Given the description of an element on the screen output the (x, y) to click on. 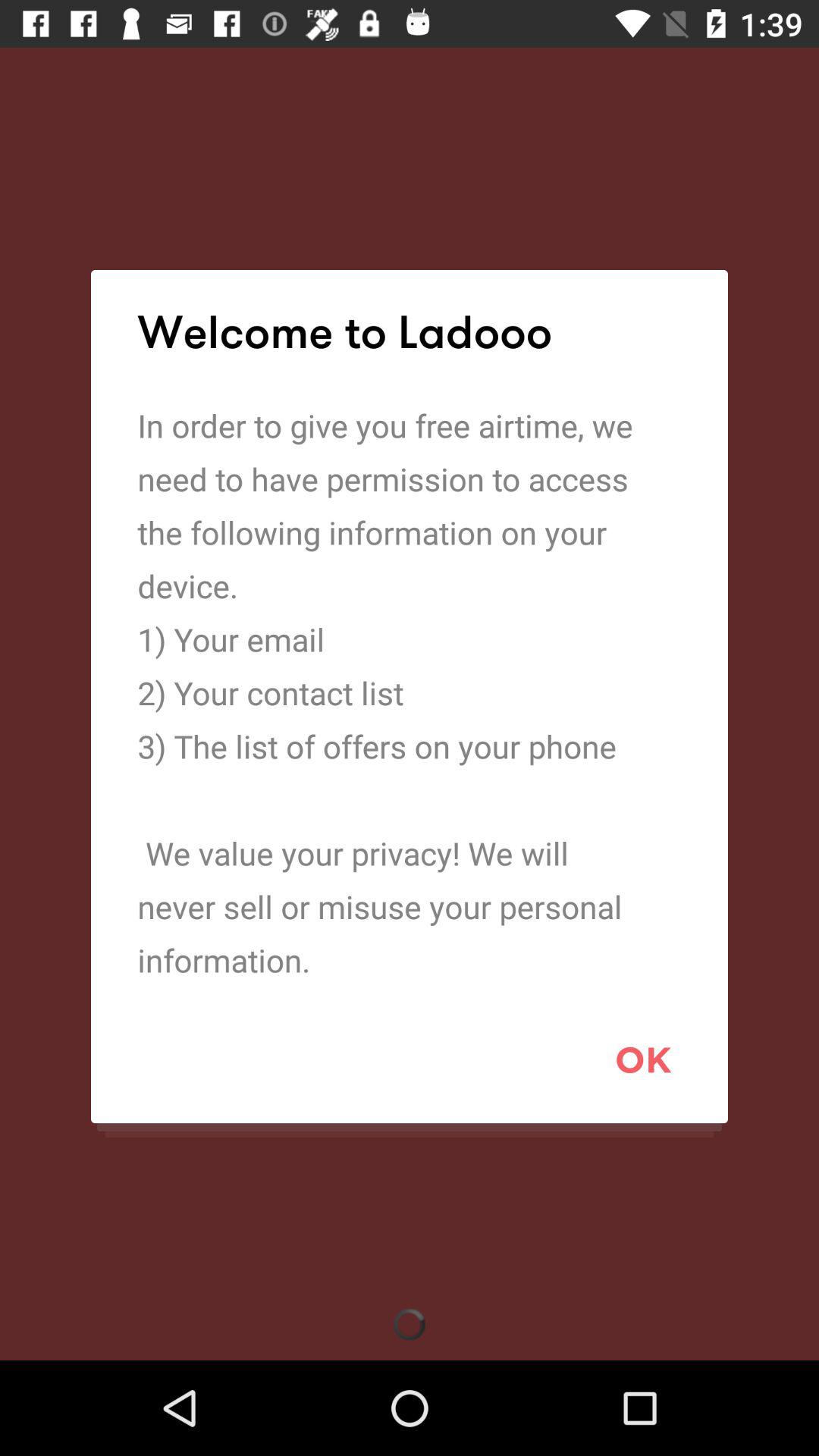
turn off ok icon (642, 1059)
